Given the description of an element on the screen output the (x, y) to click on. 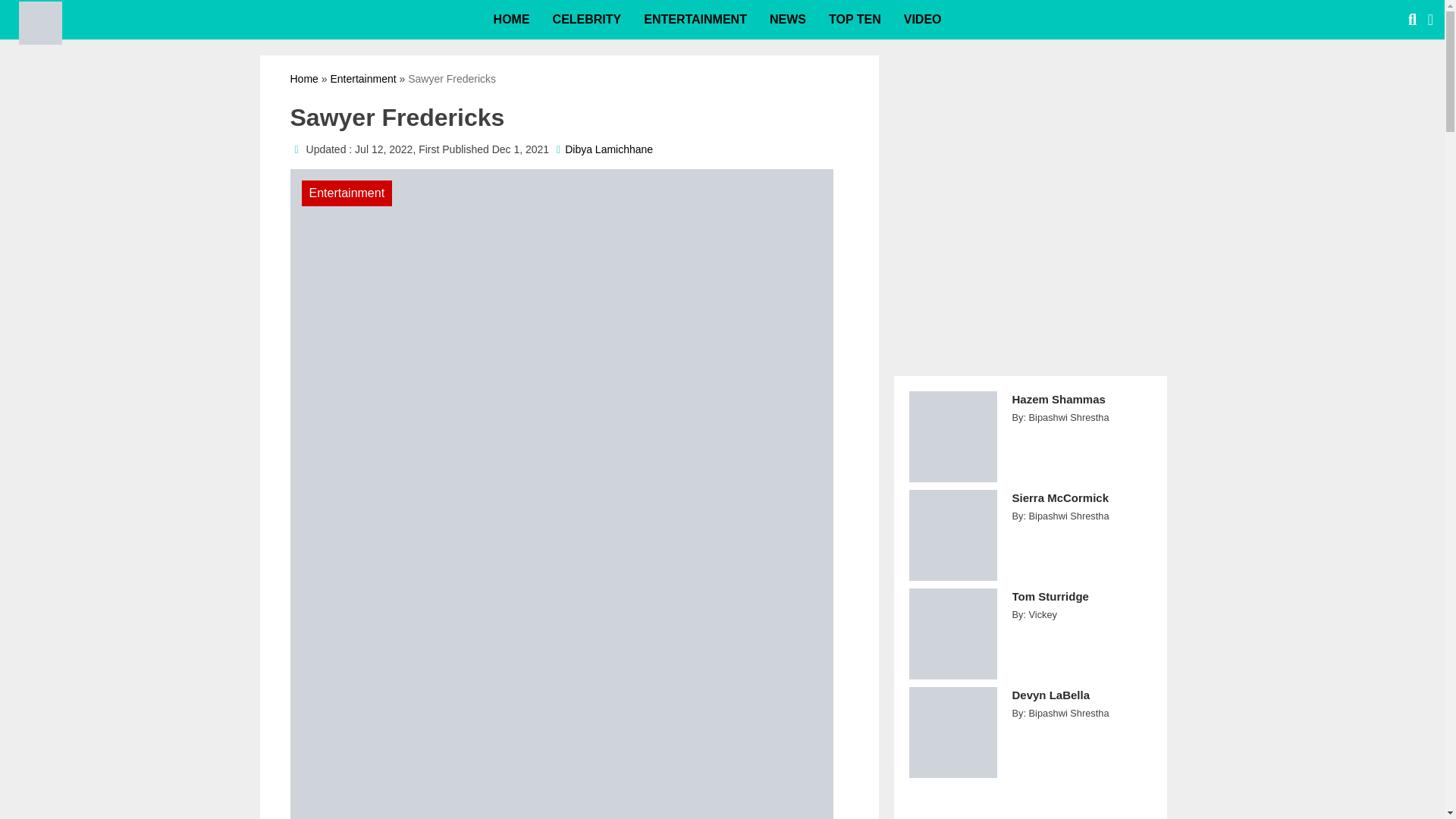
TOP TEN (854, 19)
ENTERTAINMENT (694, 19)
Home (303, 78)
HOME (511, 19)
Entertainment (363, 78)
NEWS (787, 19)
Dibya Lamichhane (608, 149)
CELEBRITY (587, 19)
VIDEO (922, 19)
Dibya Lamichhane (608, 149)
